Given the description of an element on the screen output the (x, y) to click on. 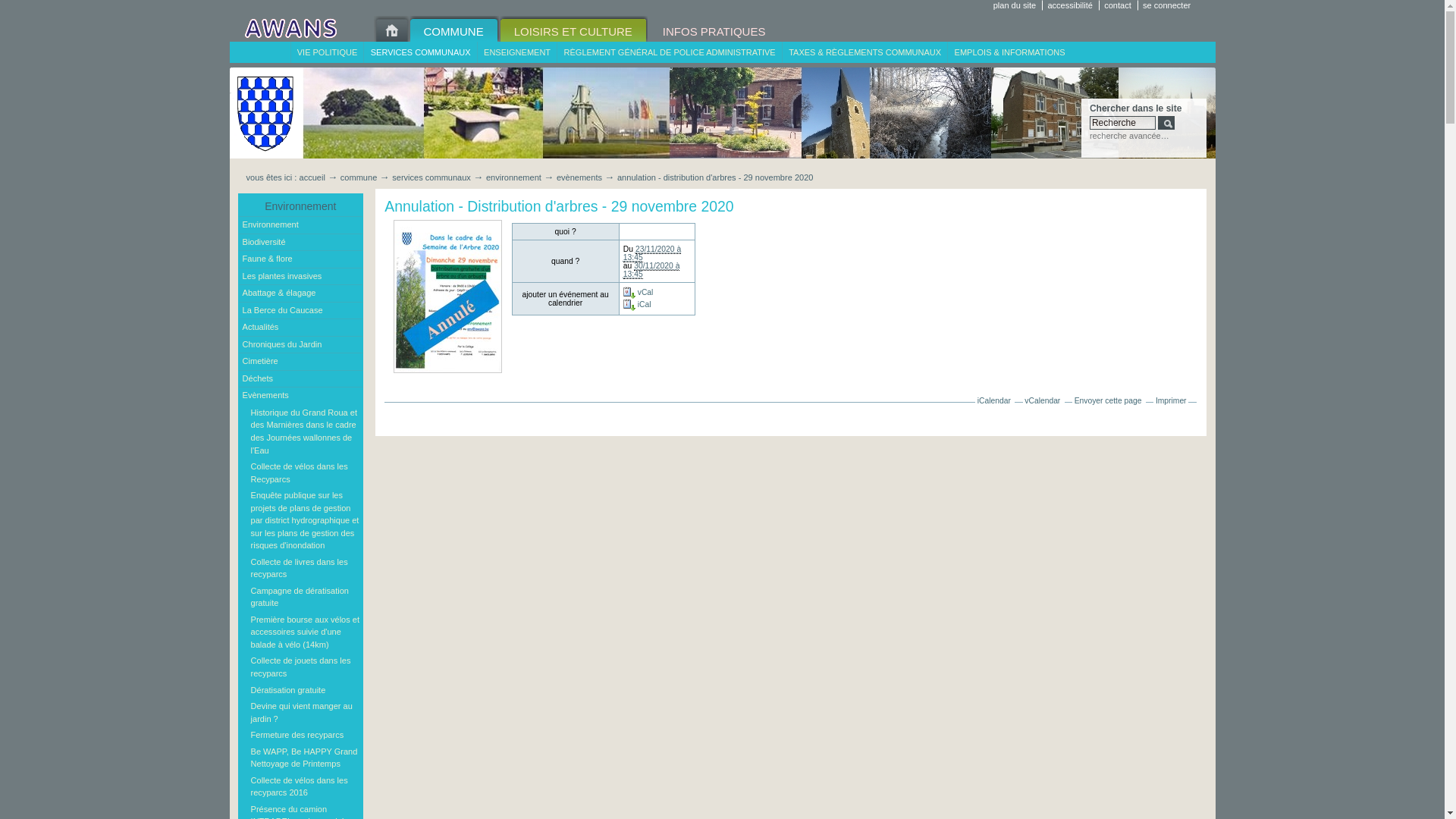
Recherche Element type: hover (1122, 122)
se connecter Element type: text (1169, 5)
LOISIRS ET CULTURE Element type: text (572, 28)
Environnement Element type: text (300, 206)
contact Element type: text (1120, 5)
SERVICES COMMUNAUX Element type: text (419, 51)
INFOS PRATIQUES Element type: text (714, 28)
Environnement Element type: text (300, 224)
vCal Element type: text (638, 292)
vCal export Element type: hover (629, 292)
Annulation - Distribution d'arbres - 29 novembre 2020 Element type: hover (447, 296)
iCal export Element type: hover (629, 304)
Collecte de jouets dans les recyparcs Element type: text (305, 666)
vCalendar Element type: text (1042, 400)
environnement Element type: text (513, 177)
La Berce du Caucase Element type: text (300, 310)
VIE POLITIQUE Element type: text (326, 51)
accueil Element type: text (311, 177)
plan du site Element type: text (1017, 5)
Fermeture des recyparcs Element type: text (305, 735)
iCalendar Element type: text (993, 400)
Envoyer cette page Element type: text (1108, 400)
COMMUNE Element type: text (452, 28)
ENSEIGNEMENT Element type: text (516, 51)
Faune & flore Element type: text (300, 259)
Collecte de livres dans les recyparcs Element type: text (305, 568)
services communaux Element type: text (431, 177)
Devine qui vient manger au jardin ? Element type: text (305, 712)
Be WAPP, Be HAPPY Grand Nettoyage de Printemps Element type: text (305, 757)
Les plantes invasives Element type: text (300, 276)
Chroniques du Jardin Element type: text (300, 344)
commune Element type: text (358, 177)
Imprimer Element type: text (1170, 400)
EMPLOIS & INFORMATIONS Element type: text (1008, 51)
iCal Element type: text (637, 304)
Logo Awans Element type: hover (289, 28)
